Given the description of an element on the screen output the (x, y) to click on. 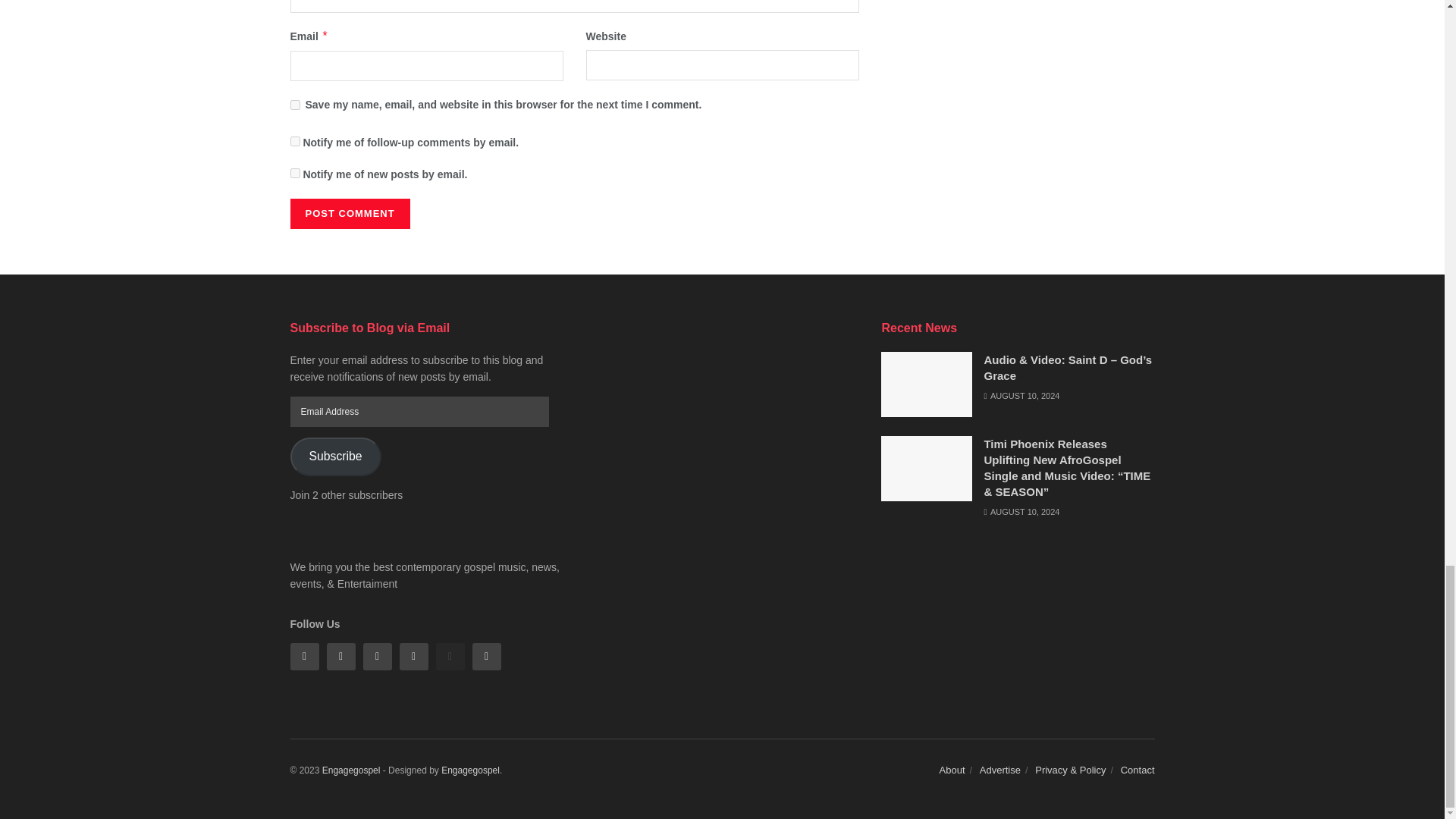
EngageGospel (350, 769)
subscribe (294, 173)
Engagegospel (470, 769)
subscribe (294, 141)
Post Comment (349, 214)
yes (294, 104)
